Given the description of an element on the screen output the (x, y) to click on. 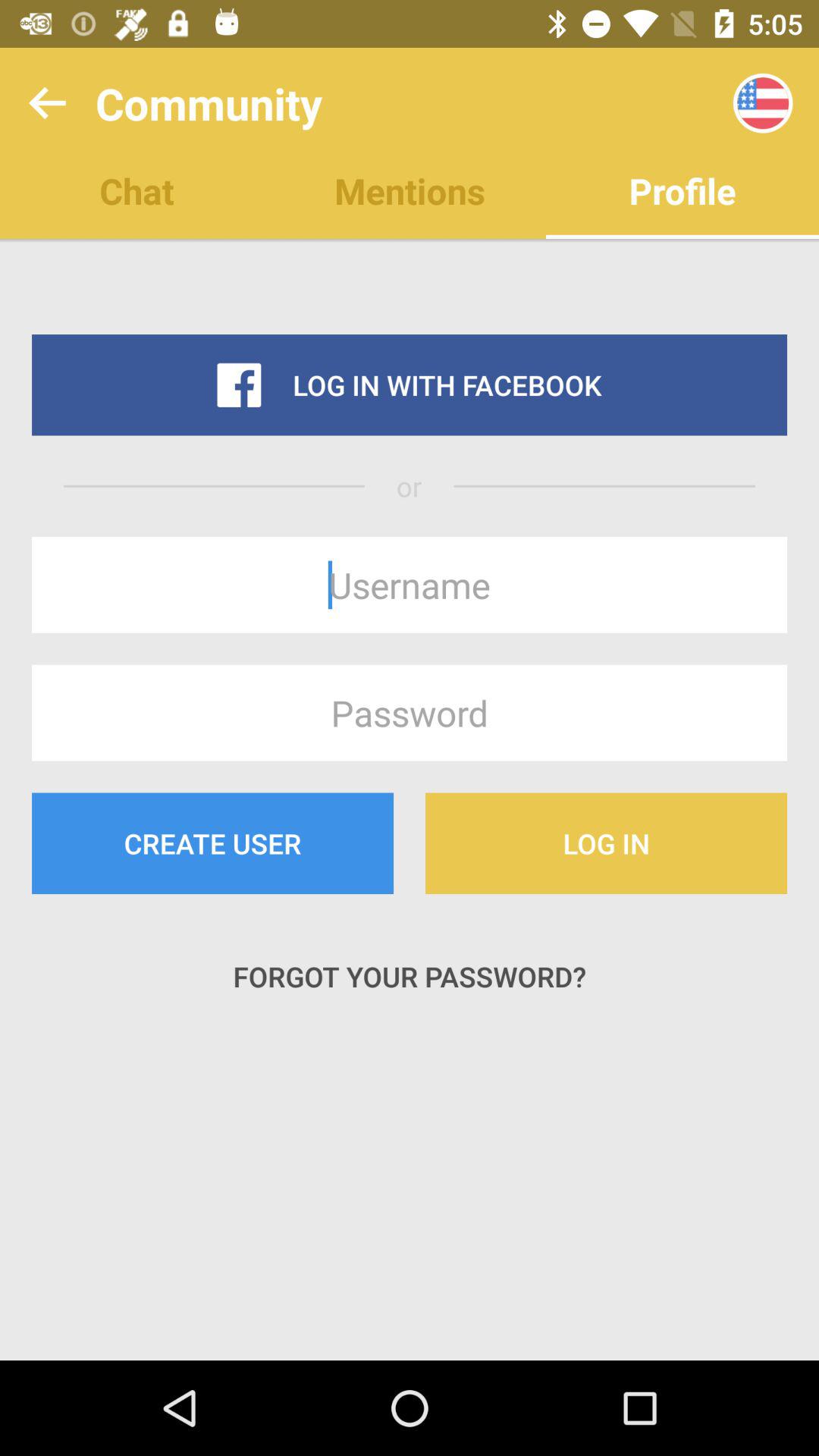
type to user name (409, 584)
